Given the description of an element on the screen output the (x, y) to click on. 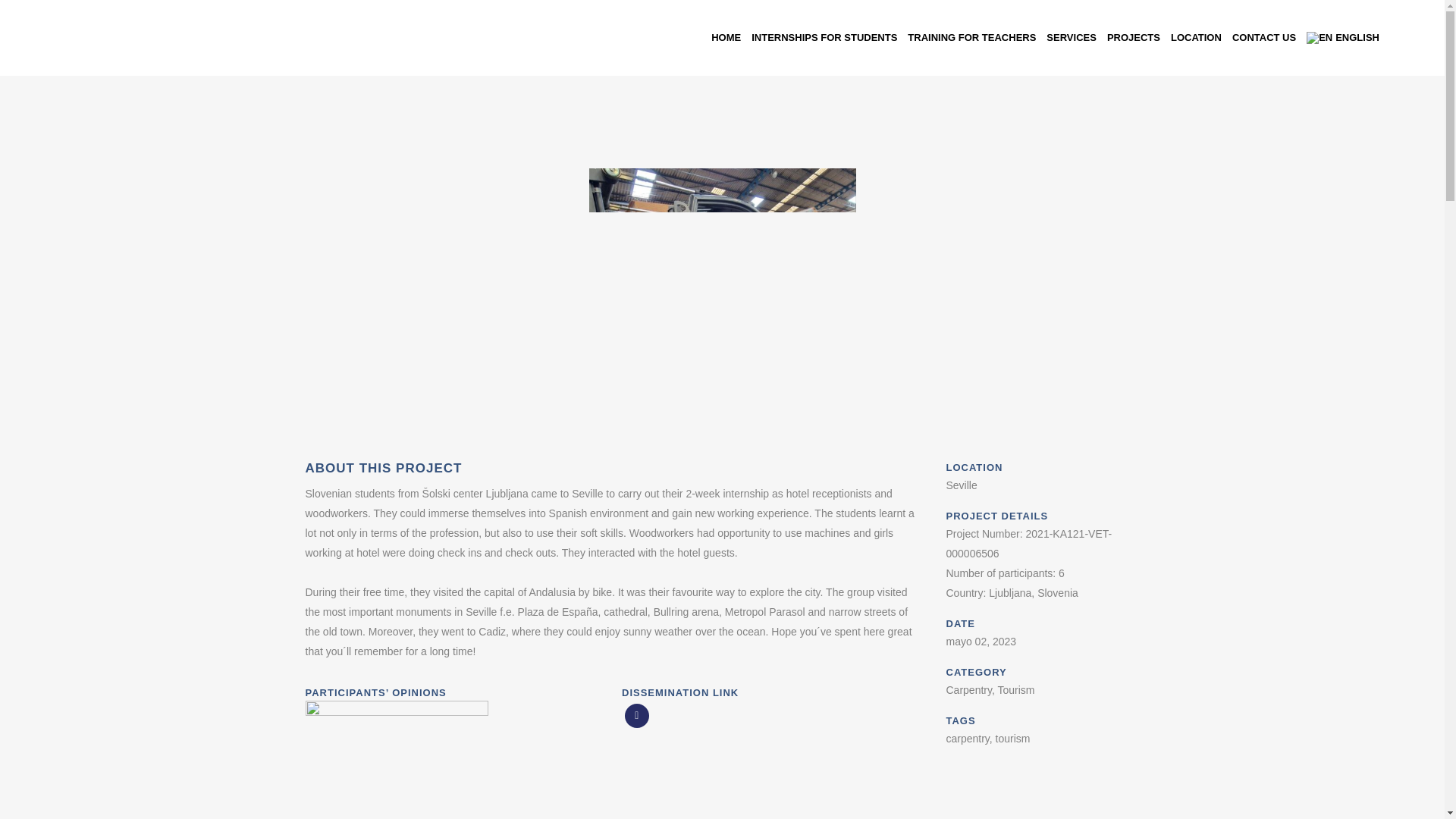
ENGLISH (1342, 38)
euromind (332, 506)
CONTACT US (1264, 38)
English (1319, 37)
TRAINING FOR TEACHERS (971, 38)
INTERNSHIPS FOR STUDENTS (823, 38)
